Given the description of an element on the screen output the (x, y) to click on. 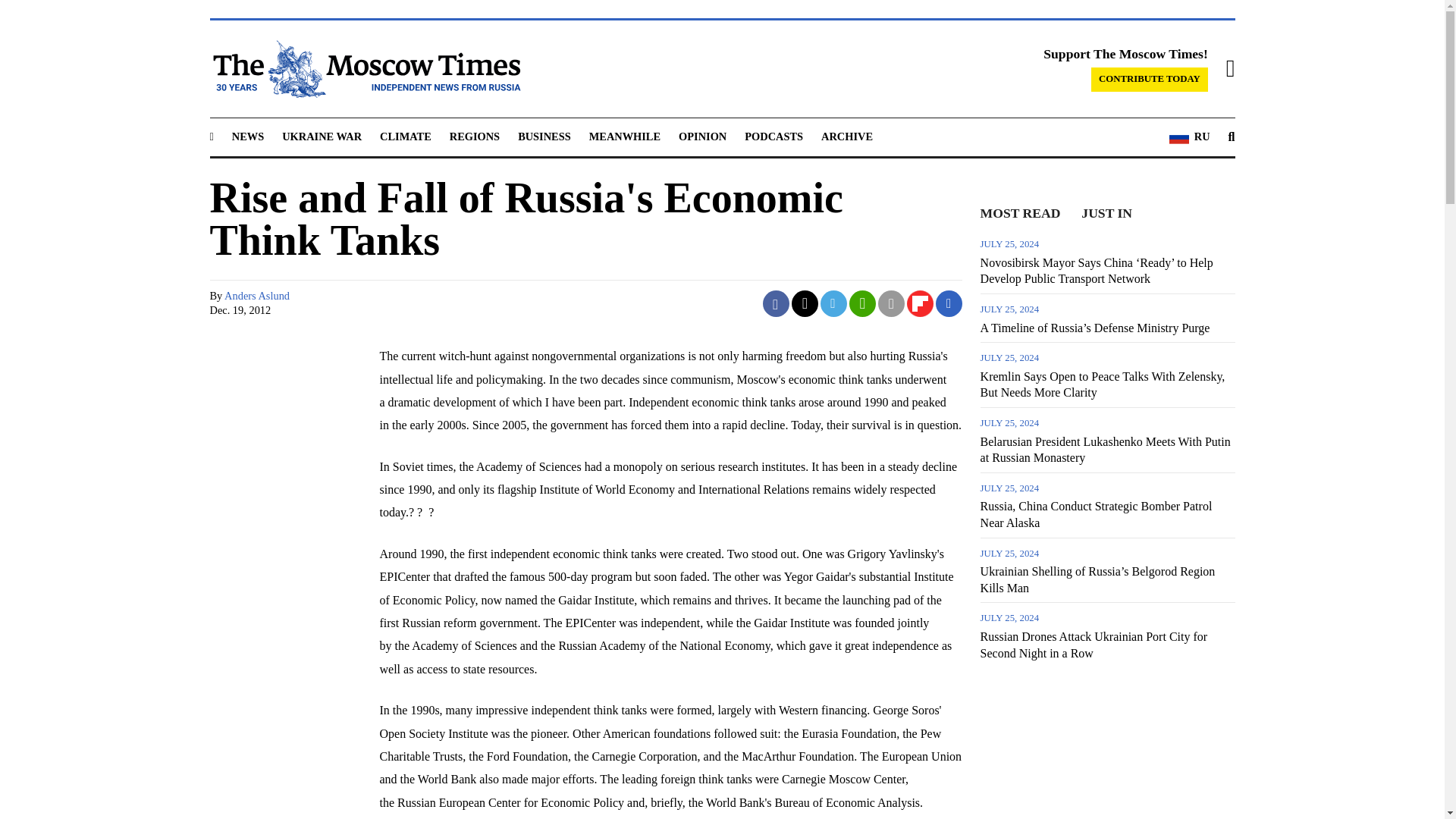
PODCASTS (773, 136)
Share on Facebook (775, 303)
Share on Twitter (805, 303)
Share with email (890, 303)
The Moscow Times - Independent News from Russia (364, 68)
ARCHIVE (846, 136)
Search (1231, 137)
OPINION (702, 136)
Share on Flipboard (920, 303)
CONTRIBUTE TODAY (1149, 79)
RU (1189, 137)
Share on WhatsApp (863, 303)
REGIONS (474, 136)
NEWS (247, 136)
Share on Telegram (834, 303)
